Given the description of an element on the screen output the (x, y) to click on. 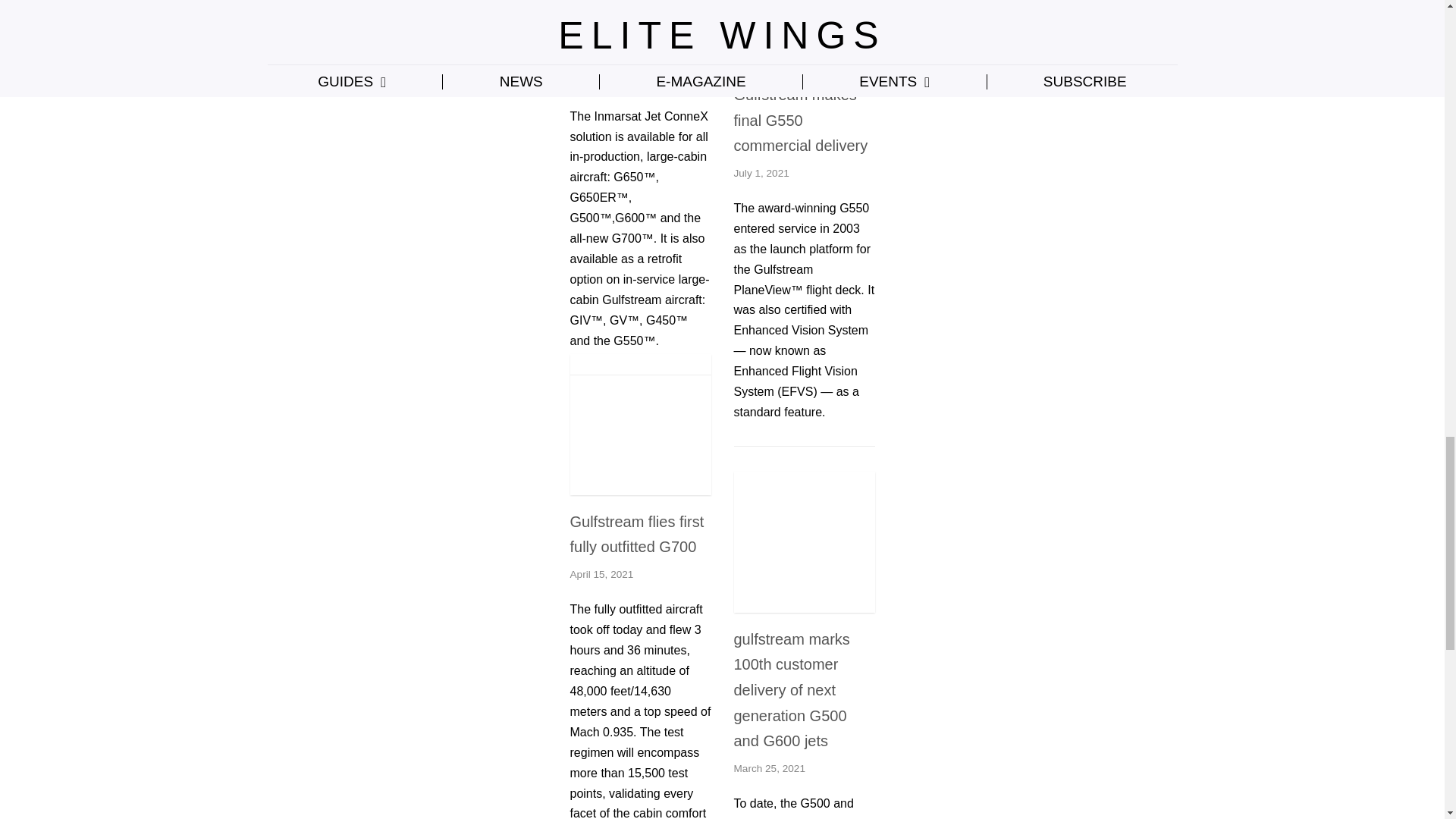
Gulfstream flies first fully outfitted G700 (640, 490)
Gulfstream makes final G550 commercial delivery (804, 63)
